Given the description of an element on the screen output the (x, y) to click on. 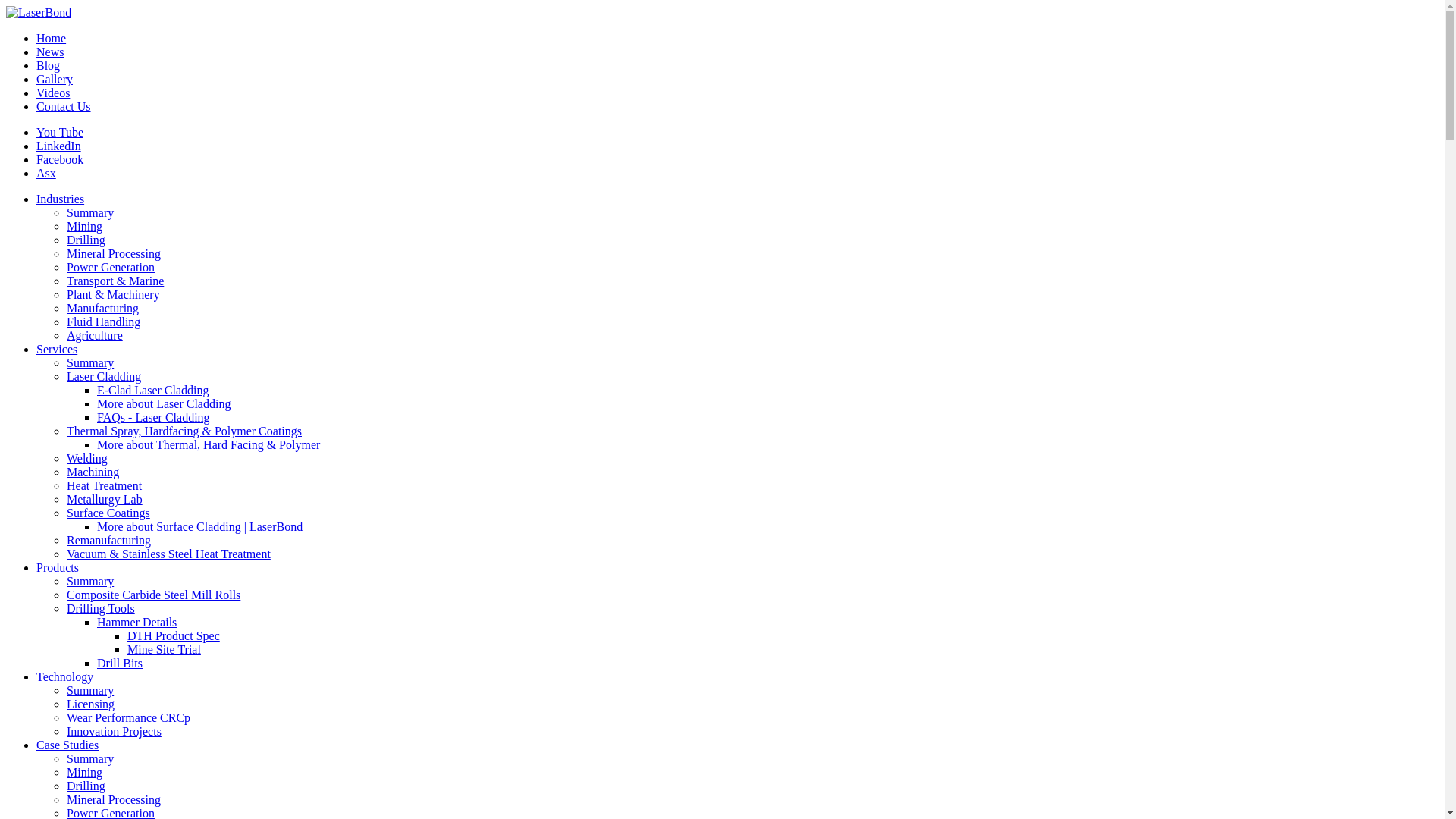
Services Element type: text (56, 348)
Power Generation Element type: text (110, 266)
FAQs - Laser Cladding Element type: text (153, 417)
Summary Element type: text (89, 580)
Laser Cladding Element type: text (103, 376)
Mine Site Trial Element type: text (163, 649)
Drilling Element type: text (85, 785)
Machining Element type: text (92, 471)
Gallery Element type: text (54, 78)
Mining Element type: text (84, 771)
Summary Element type: text (89, 690)
Asx Element type: text (46, 172)
Drilling Tools Element type: text (100, 608)
More about Surface Cladding | LaserBond Element type: text (199, 526)
Hammer Details Element type: text (136, 621)
Composite Carbide Steel Mill Rolls Element type: text (153, 594)
DTH Product Spec Element type: text (173, 635)
Welding Element type: text (86, 457)
Thermal Spray, Hardfacing & Polymer Coatings Element type: text (183, 430)
Remanufacturing Element type: text (108, 539)
E-Clad Laser Cladding Element type: text (153, 389)
Videos Element type: text (52, 92)
Summary Element type: text (89, 212)
Metallurgy Lab Element type: text (104, 498)
LinkedIn Element type: text (58, 145)
Blog Element type: text (47, 65)
Industries Element type: text (60, 198)
Wear Performance CRCp Element type: text (128, 717)
Contact Us Element type: text (63, 106)
Transport & Marine Element type: text (114, 280)
Fluid Handling Element type: text (103, 321)
Mineral Processing Element type: text (113, 253)
Home Element type: text (50, 37)
Mining Element type: text (84, 225)
Drill Bits Element type: text (119, 662)
Agriculture Element type: text (94, 335)
More about Laser Cladding Element type: text (163, 403)
Innovation Projects Element type: text (113, 730)
Summary Element type: text (89, 362)
Manufacturing Element type: text (102, 307)
Summary Element type: text (89, 758)
Surface Coatings Element type: text (108, 512)
More about Thermal, Hard Facing & Polymer Element type: text (208, 444)
Products Element type: text (57, 567)
News Element type: text (49, 51)
You Tube Element type: text (59, 131)
Plant & Machinery Element type: text (113, 294)
Case Studies Element type: text (67, 744)
Drilling Element type: text (85, 239)
Licensing Element type: text (90, 703)
Mineral Processing Element type: text (113, 799)
Facebook Element type: text (59, 159)
Technology Element type: text (64, 676)
Vacuum & Stainless Steel Heat Treatment Element type: text (168, 553)
Heat Treatment Element type: text (103, 485)
